Given the description of an element on the screen output the (x, y) to click on. 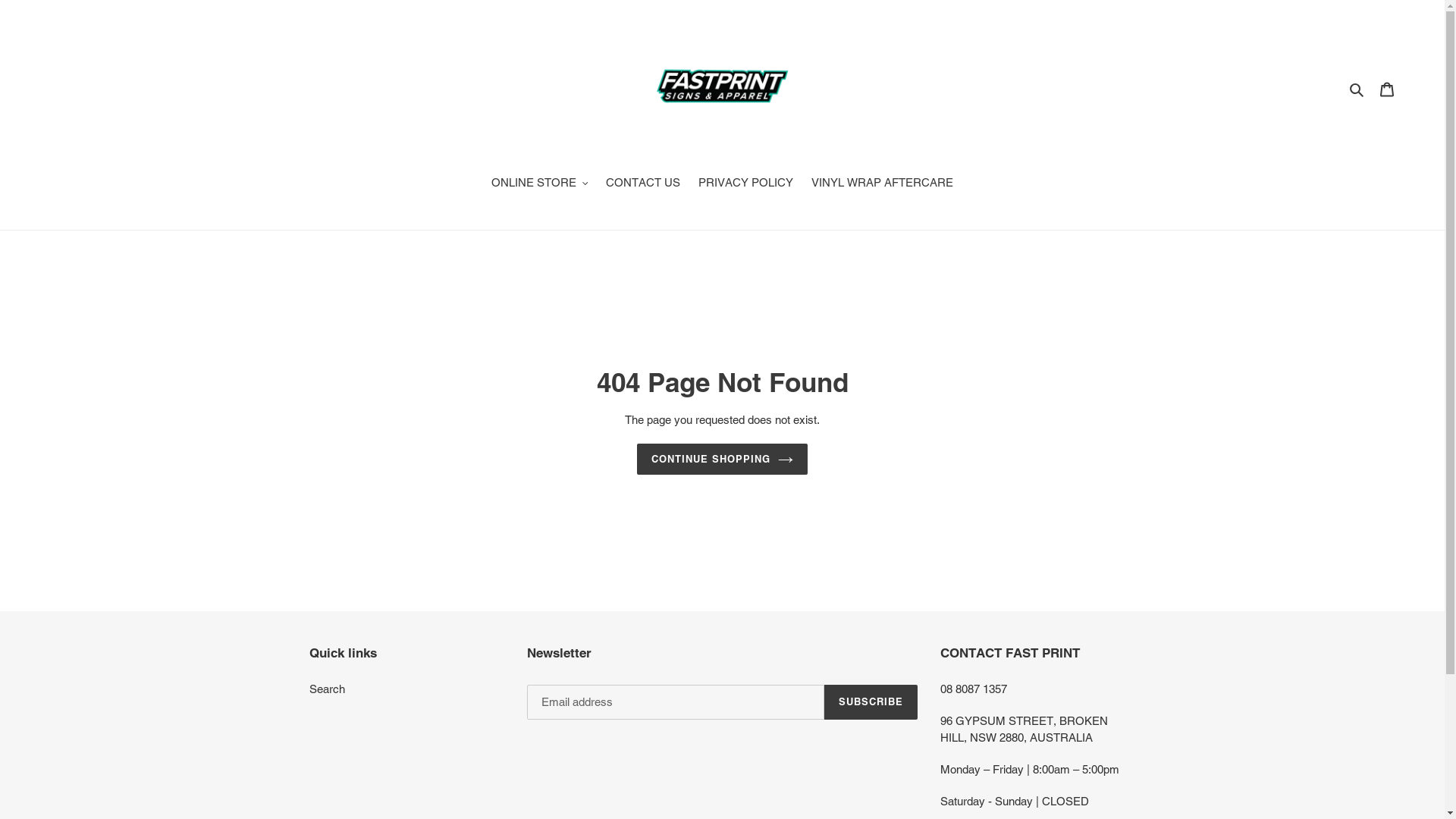
Search Element type: text (327, 688)
ONLINE STORE Element type: text (539, 184)
Search Element type: text (1357, 88)
CONTACT US Element type: text (642, 184)
VINYL WRAP AFTERCARE Element type: text (881, 184)
CONTINUE SHOPPING Element type: text (722, 459)
SUBSCRIBE Element type: text (870, 701)
Cart Element type: text (1386, 88)
PRIVACY POLICY Element type: text (745, 184)
